Given the description of an element on the screen output the (x, y) to click on. 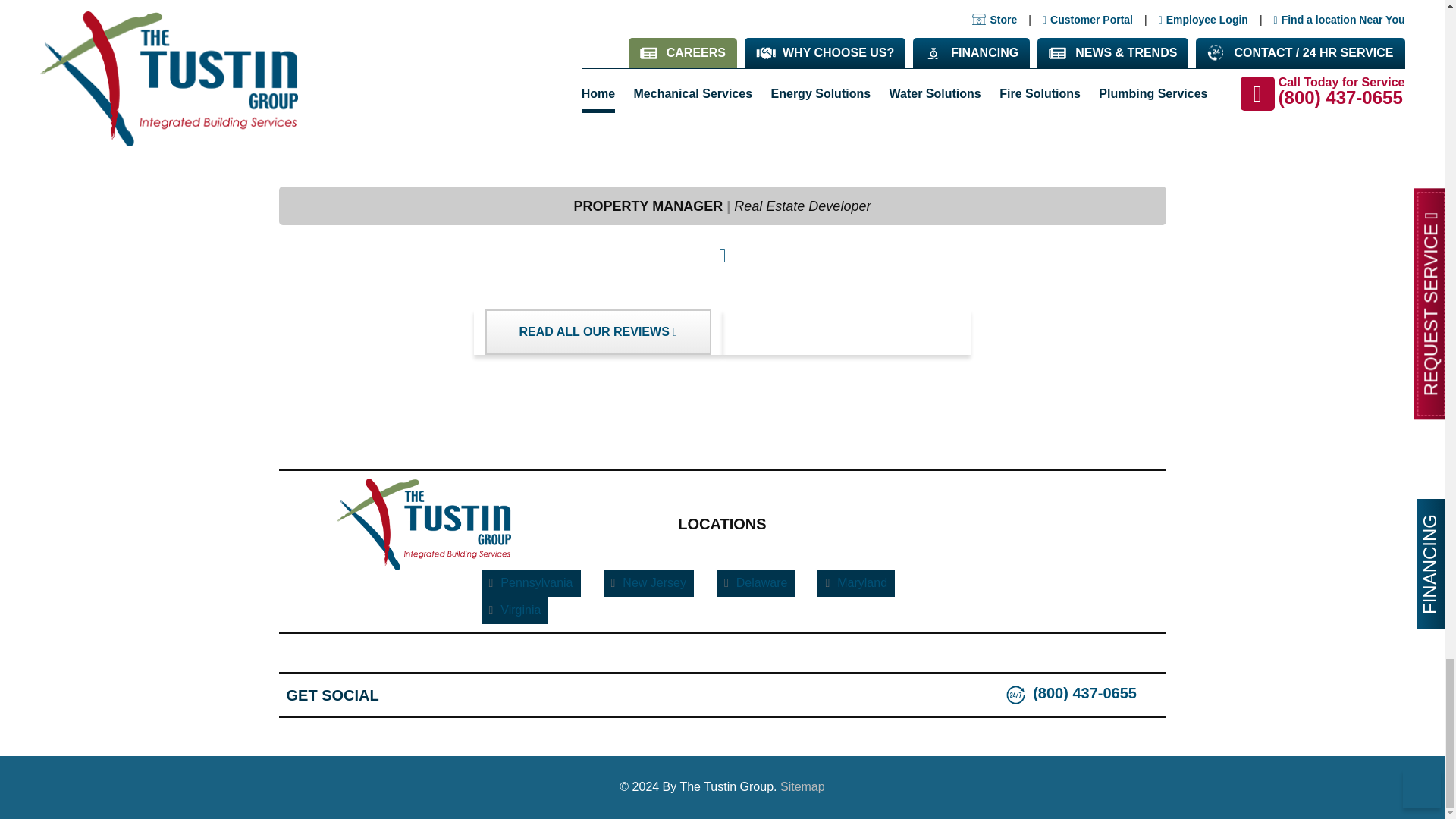
LinkedIn (455, 694)
Facebook (395, 694)
The Tustin Group (423, 523)
GMB (425, 694)
Instagram (516, 694)
Twitter (486, 694)
